Given the description of an element on the screen output the (x, y) to click on. 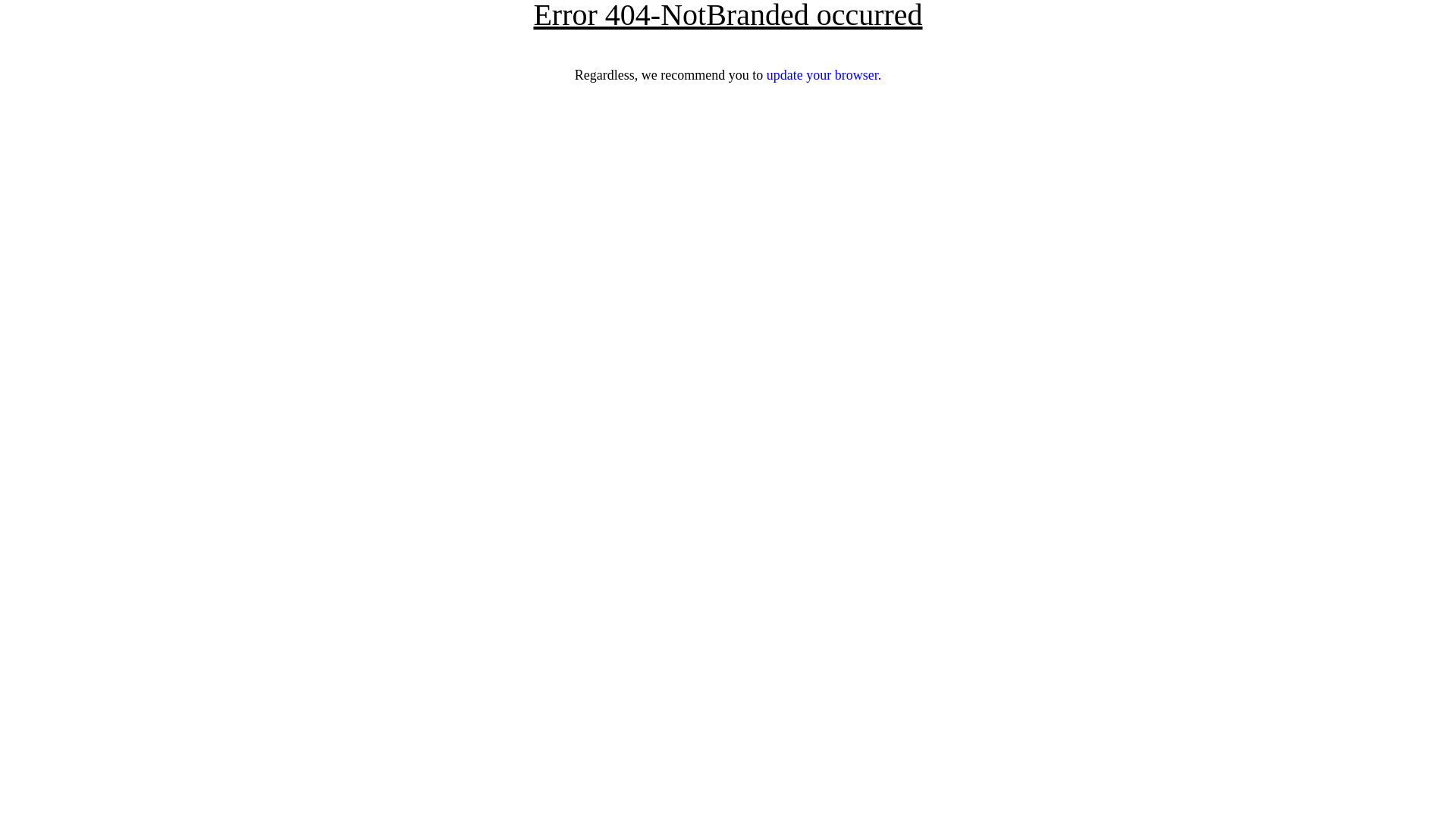
update your browser. Element type: text (823, 74)
